Given the description of an element on the screen output the (x, y) to click on. 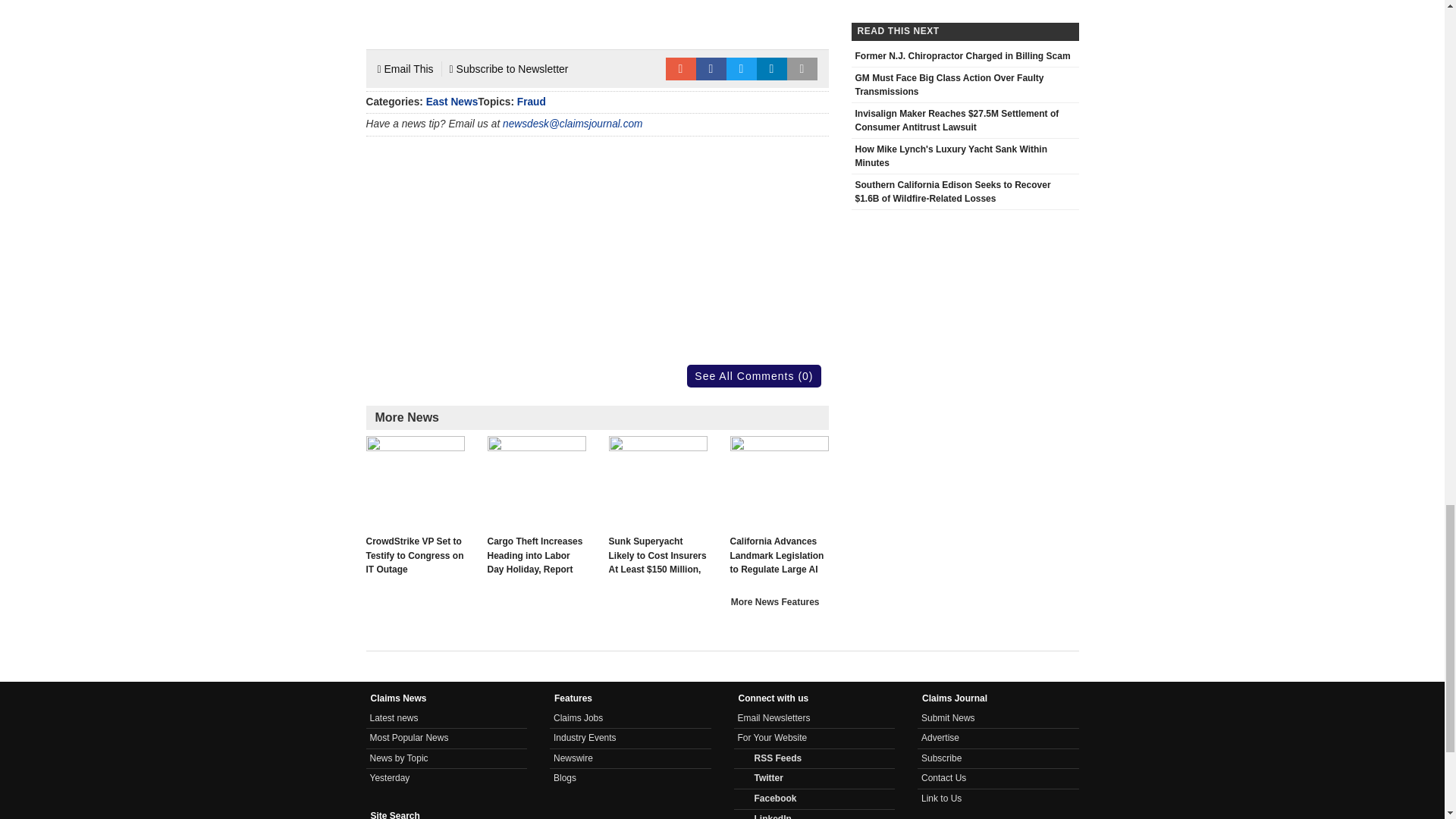
Print Article (801, 68)
Insurance News by Topic (398, 757)
Post to Facebook. (710, 68)
Subscribe to Newsletter (509, 68)
Share on LinkedIn. (772, 68)
Email to a friend (680, 68)
Email to a friend (680, 68)
Email This (405, 68)
Share on Twitter. (741, 68)
